Given the description of an element on the screen output the (x, y) to click on. 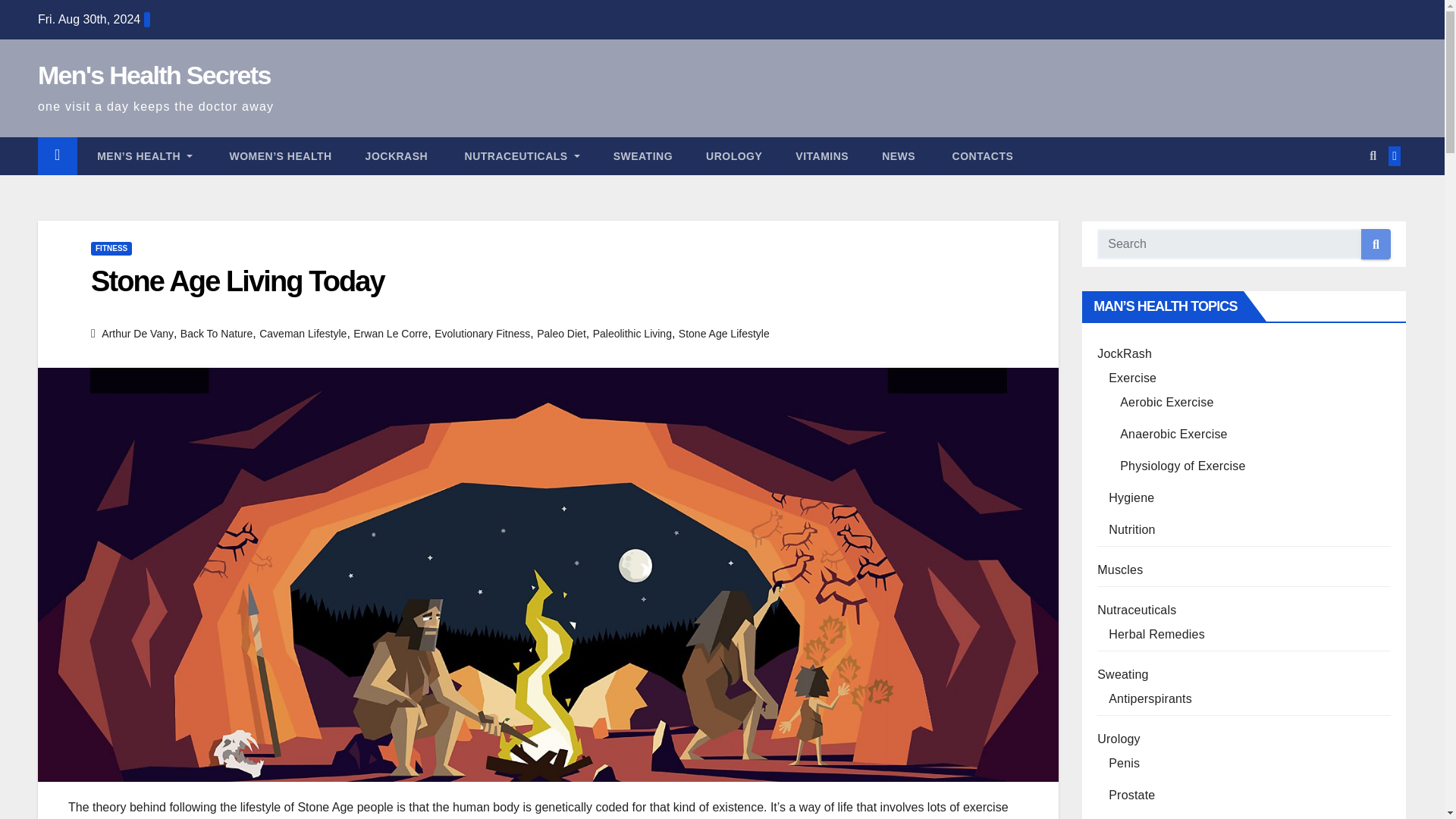
 CONTACTS (980, 156)
NEWS (897, 156)
Men's Health Secrets (153, 74)
 NUTRACEUTICALS (519, 156)
JOCKRASH (397, 156)
VITAMINS (821, 156)
SWEATING (642, 156)
JockRash (397, 156)
UROLOGY (733, 156)
